Given the description of an element on the screen output the (x, y) to click on. 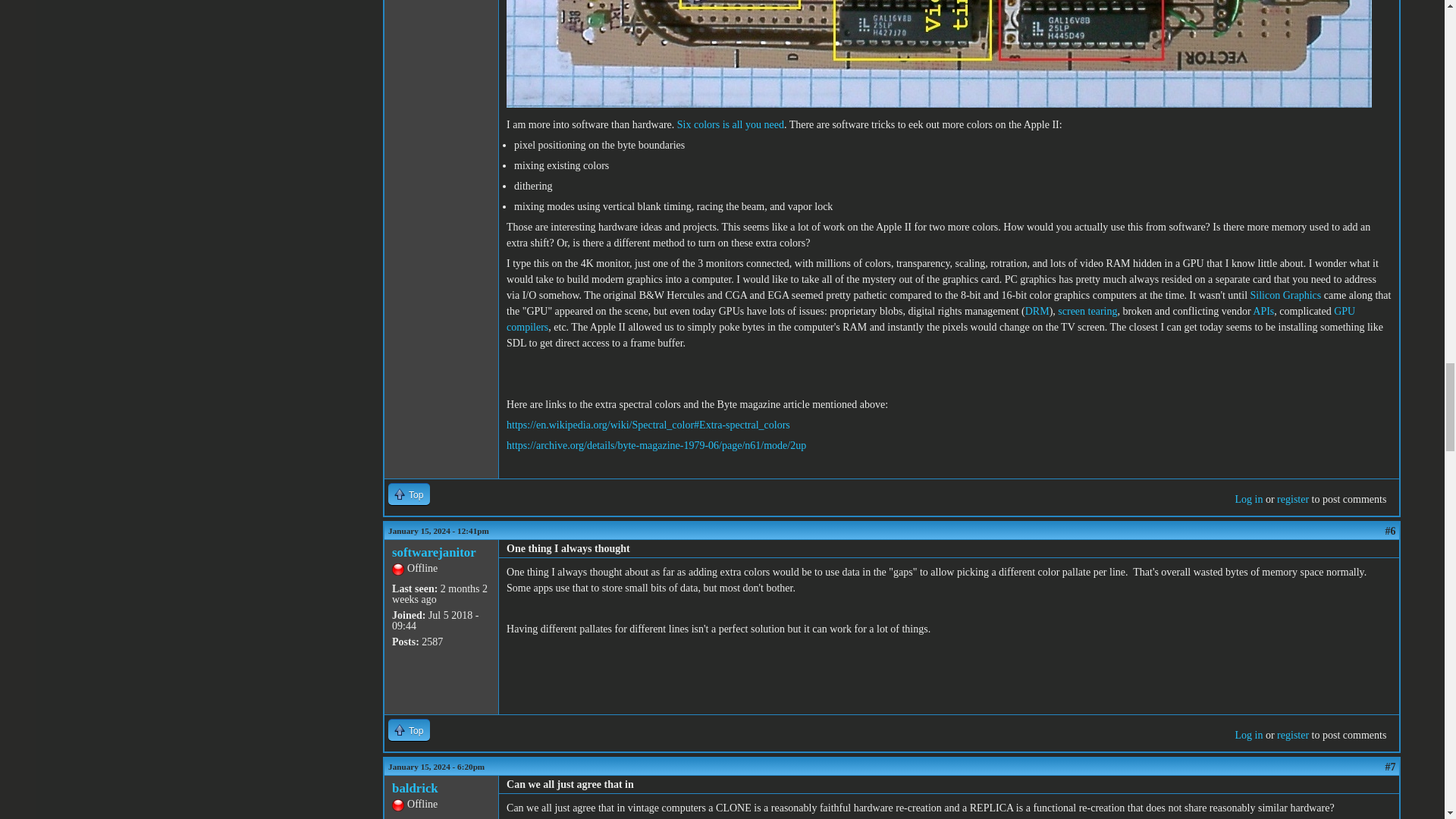
Jump to top of page (408, 494)
